Given the description of an element on the screen output the (x, y) to click on. 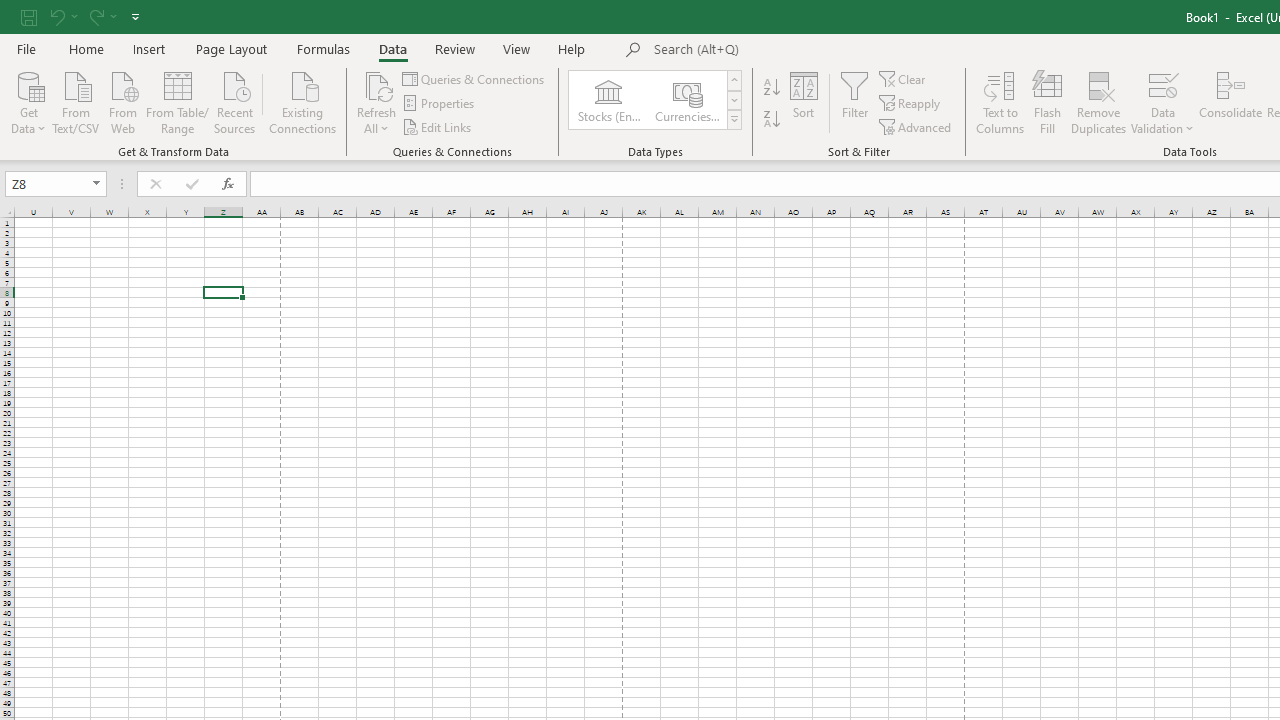
Open (96, 183)
Row Down (734, 100)
Recent Sources (235, 101)
Refresh All (376, 84)
Sort Z to A (772, 119)
Sort A to Z (772, 87)
Data (392, 48)
Clear (903, 78)
Insert (149, 48)
From Text/CSV (75, 101)
Existing Connections (303, 101)
Save (29, 15)
Row up (734, 79)
